Given the description of an element on the screen output the (x, y) to click on. 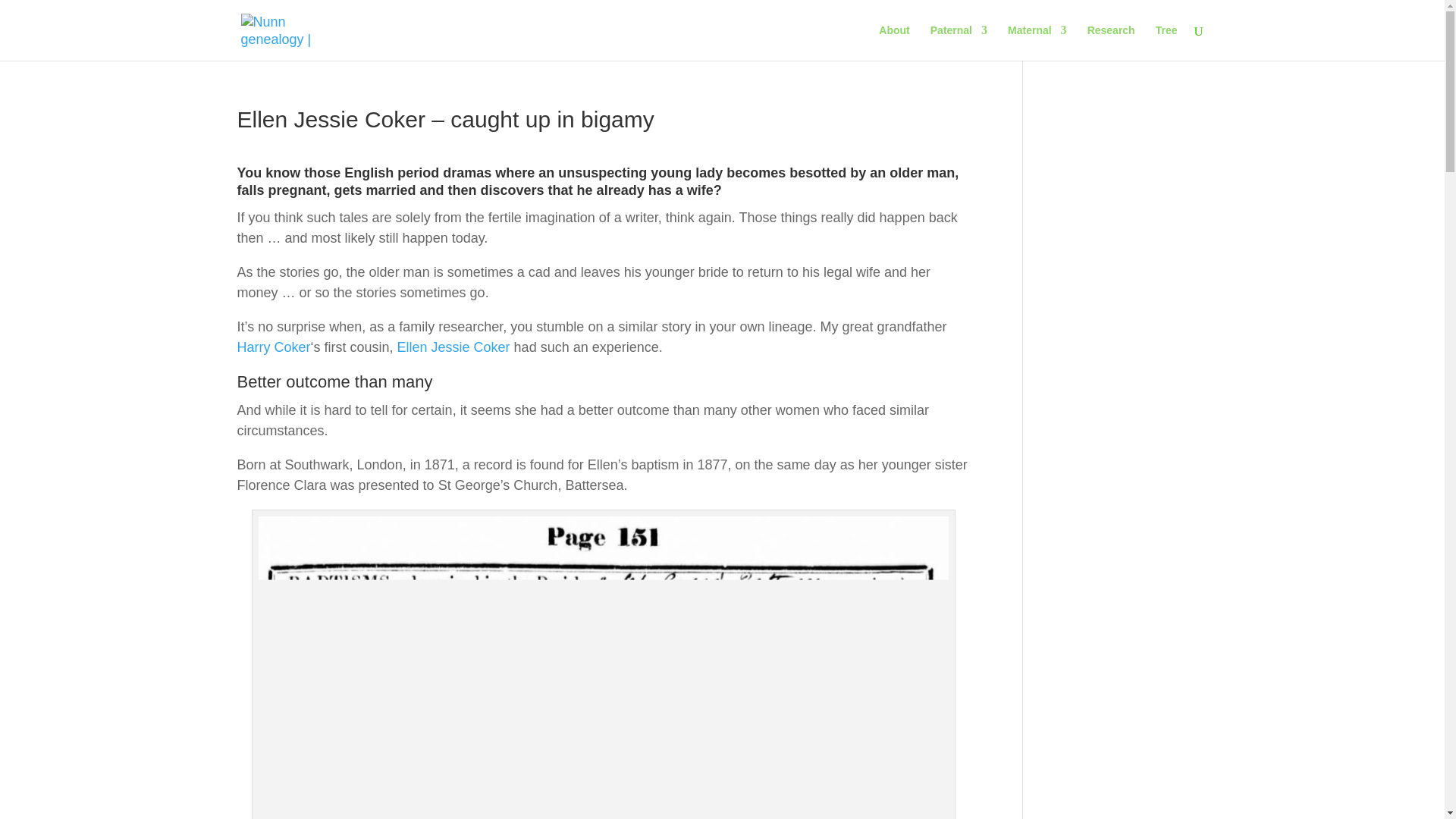
Research (1111, 42)
Maternal (1037, 42)
Ellen Jessie Coker (454, 346)
Paternal (958, 42)
Harry Coker (272, 346)
